Given the description of an element on the screen output the (x, y) to click on. 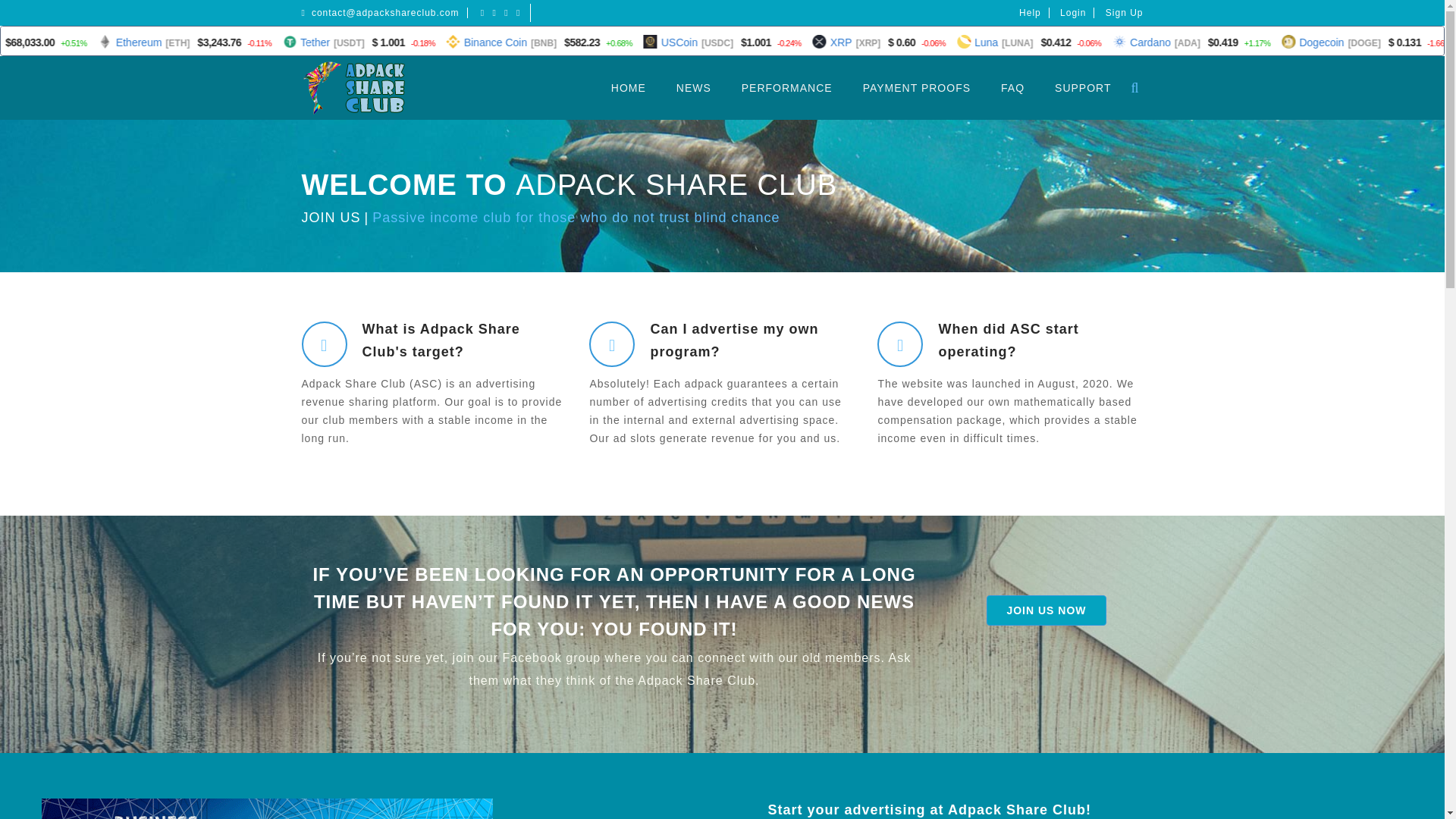
Help (1030, 12)
Sign Up (1123, 12)
PERFORMANCE (786, 87)
SUPPORT (1082, 87)
JOIN US NOW (1046, 610)
JOIN US (331, 217)
HOME (628, 87)
Login (1072, 12)
PAYMENT PROOFS (916, 87)
NEWS (693, 87)
